Given the description of an element on the screen output the (x, y) to click on. 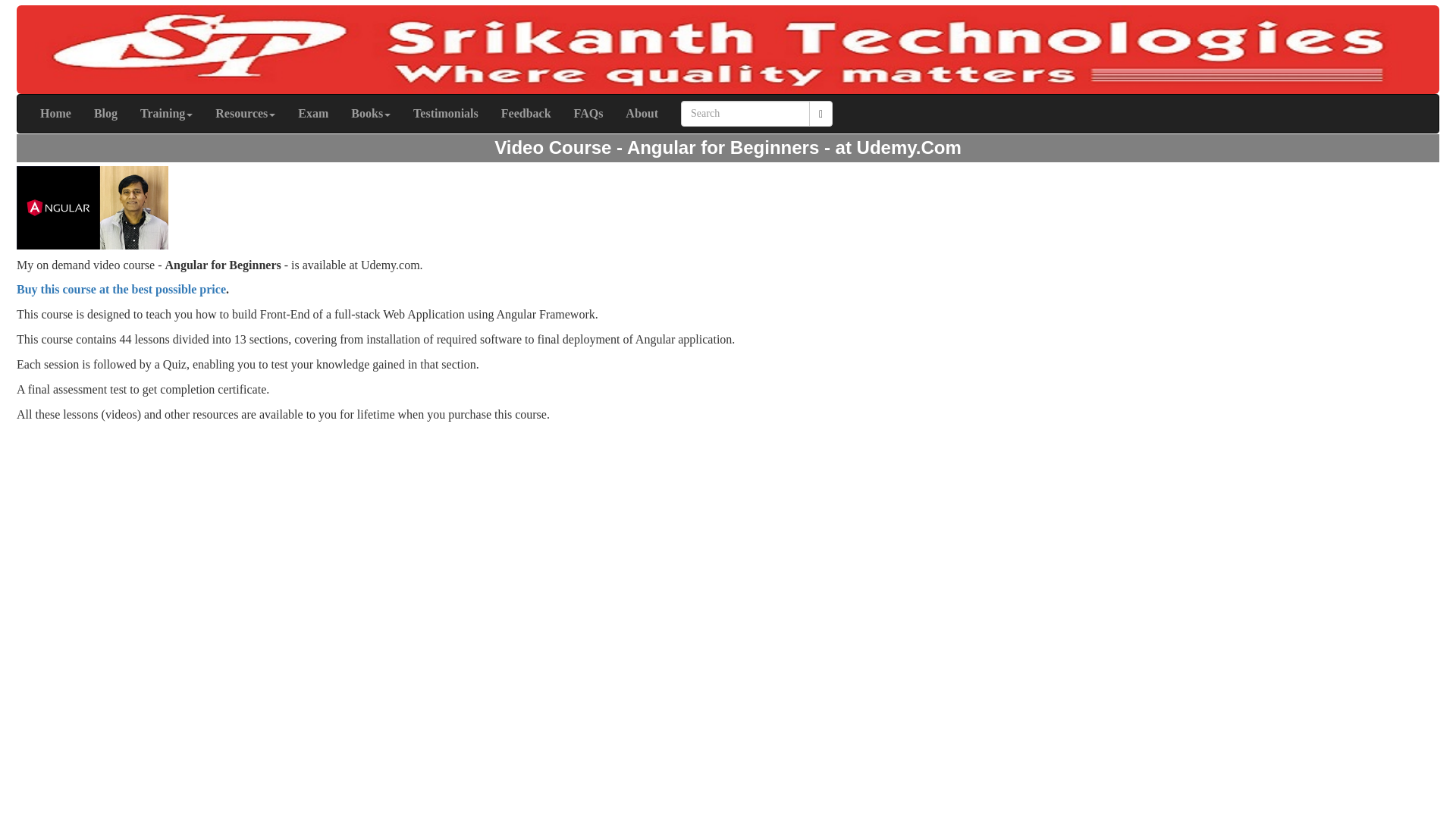
Resources (244, 113)
Buy this course at the best possible price (120, 288)
About (641, 113)
Feedback (525, 113)
Angular for Beginners (92, 207)
Testimonials (445, 113)
Training (166, 113)
Exam (312, 113)
FAQs (588, 113)
Books (370, 113)
